Given the description of an element on the screen output the (x, y) to click on. 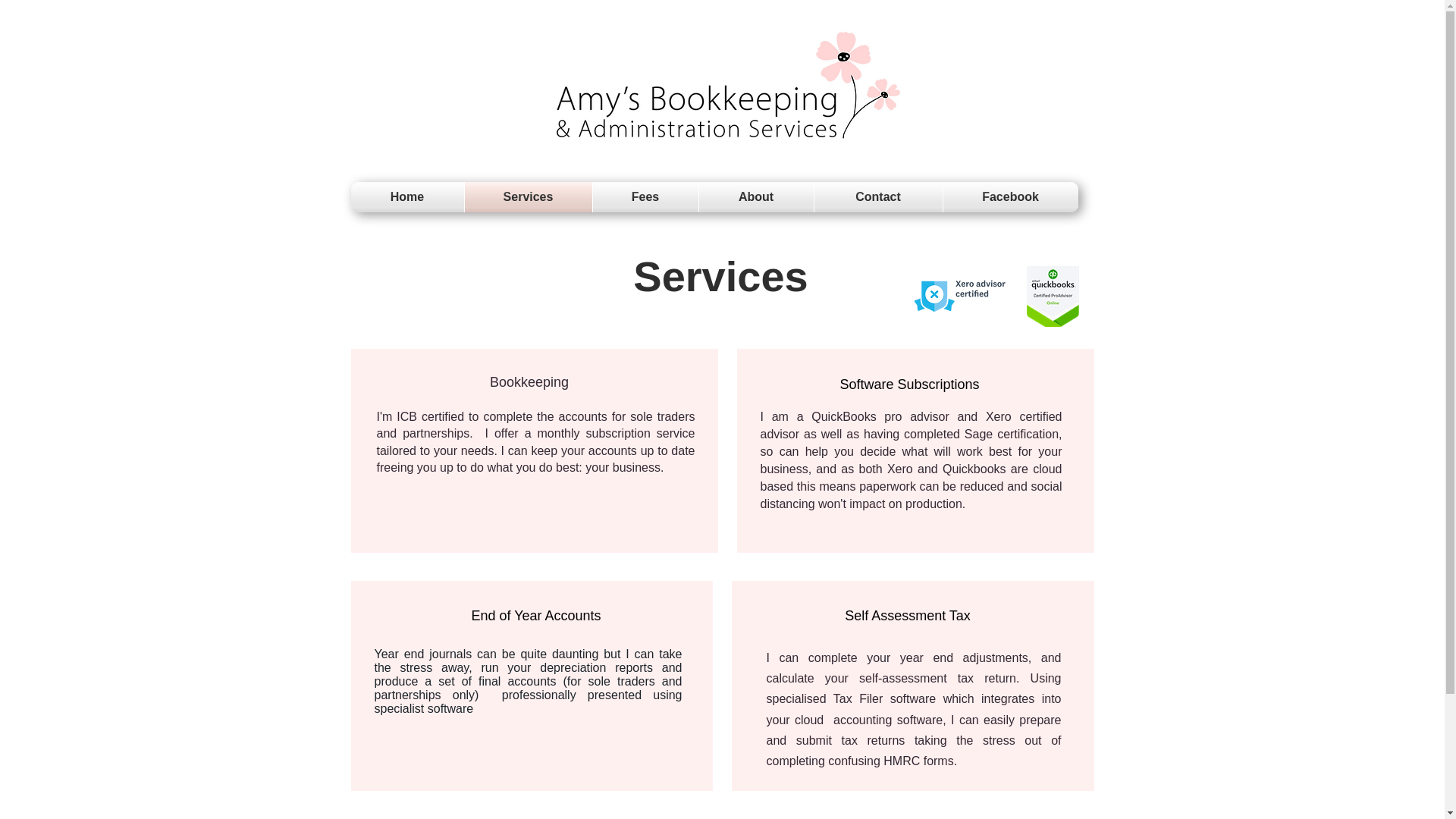
Facebook (1010, 196)
About (755, 196)
Home (406, 196)
Contact (877, 196)
Services (527, 196)
Fees (645, 196)
